Given the description of an element on the screen output the (x, y) to click on. 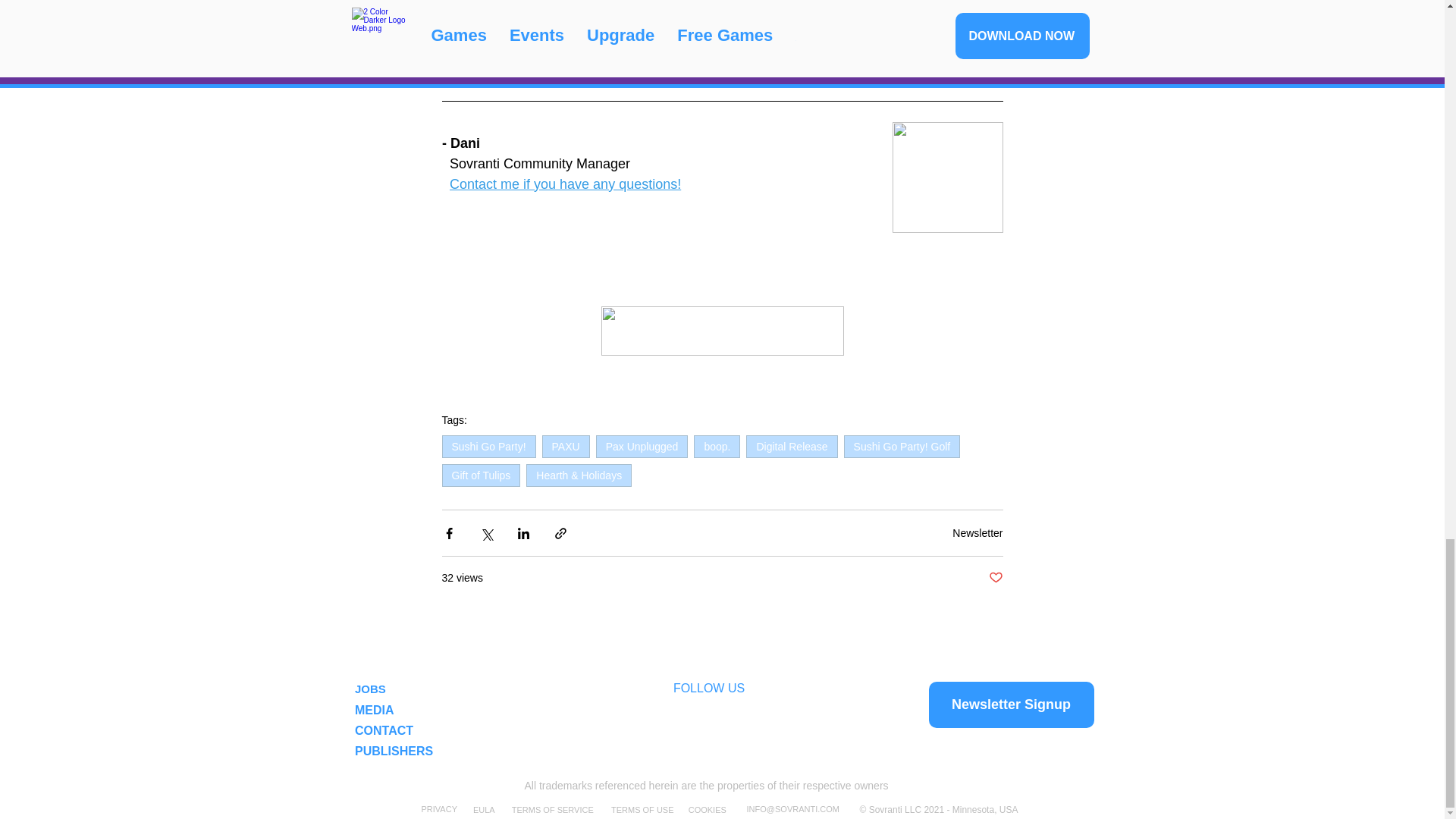
boop. (716, 445)
Post not marked as liked (995, 578)
Pax Unplugged (641, 445)
lot of fun events (559, 15)
PAXU (565, 445)
Sushi Go Party! (488, 445)
Gift of Tulips (480, 475)
Digital Release (791, 445)
Newsletter (977, 532)
Sushi Go Party! Golf (902, 445)
Contact me if you have any questions! (565, 183)
